Given the description of an element on the screen output the (x, y) to click on. 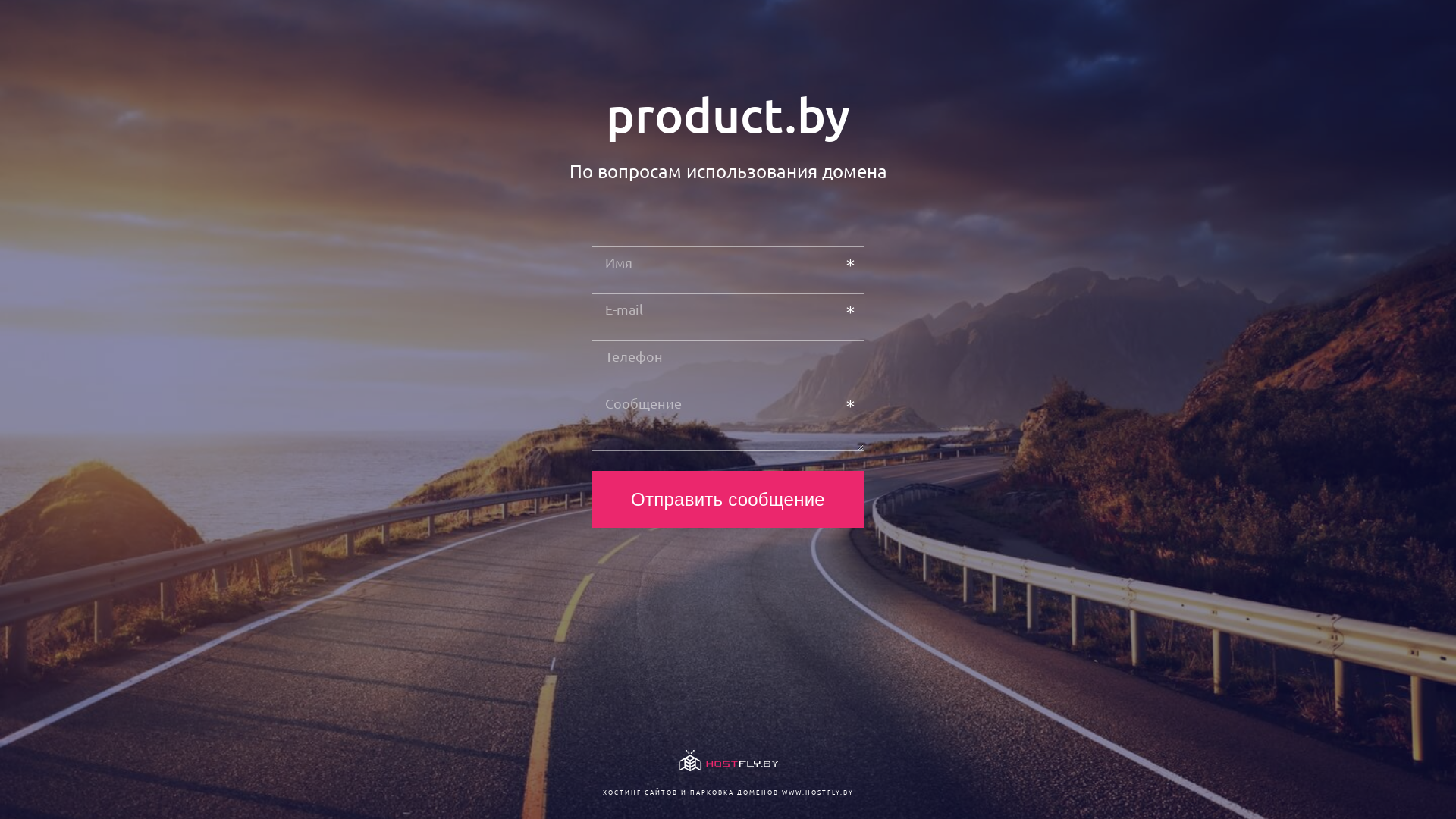
WWW.HOSTFLY.BY Element type: text (817, 791)
